Given the description of an element on the screen output the (x, y) to click on. 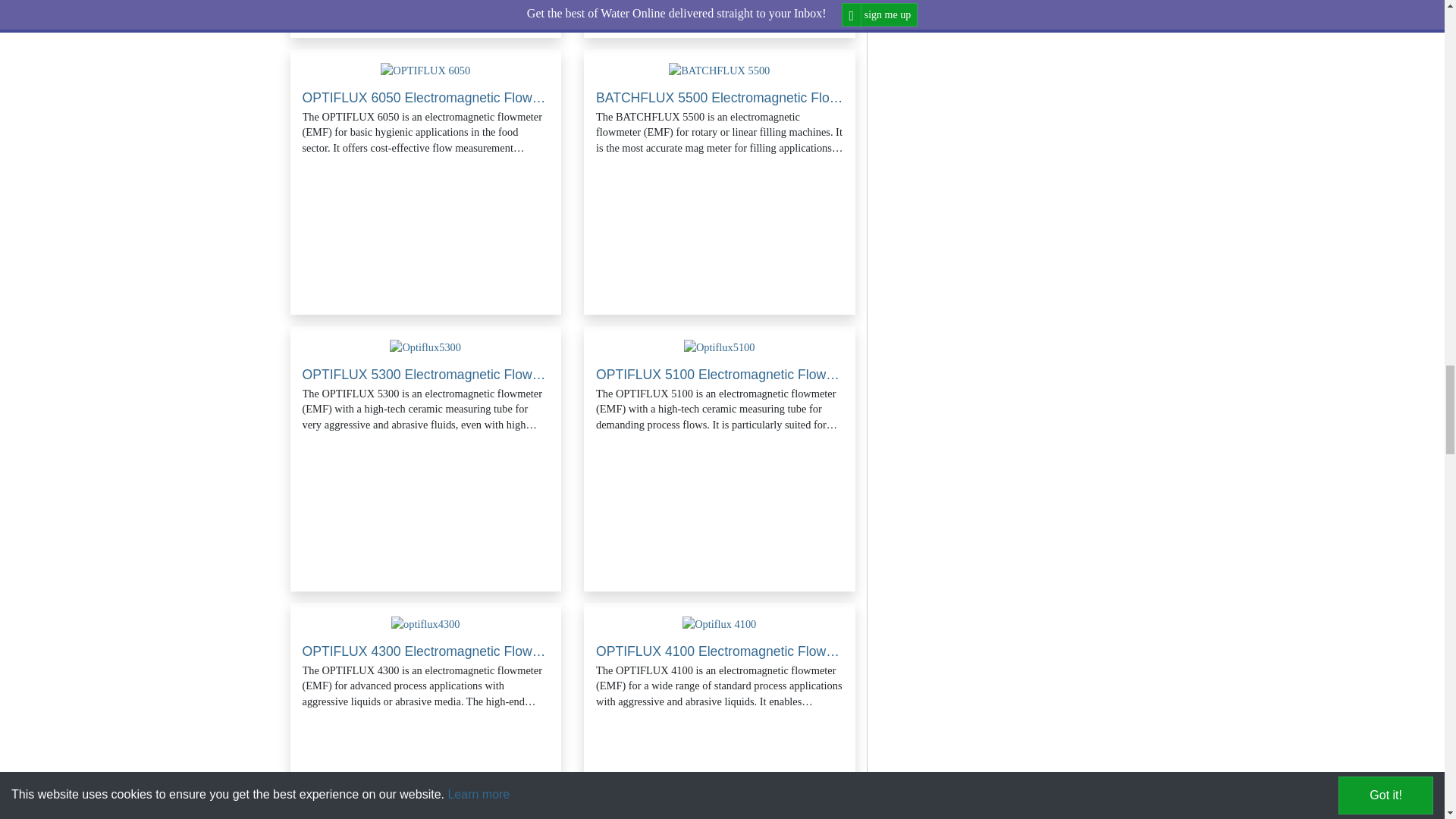
OPTIFLUX 6050 Electromagnetic Flowmeter (425, 70)
BATCHFLUX 5500 Electromagnetic Flowmeter (719, 70)
OPTIFLUX 5300 Electromagnetic Flowmeter (425, 346)
